Given the description of an element on the screen output the (x, y) to click on. 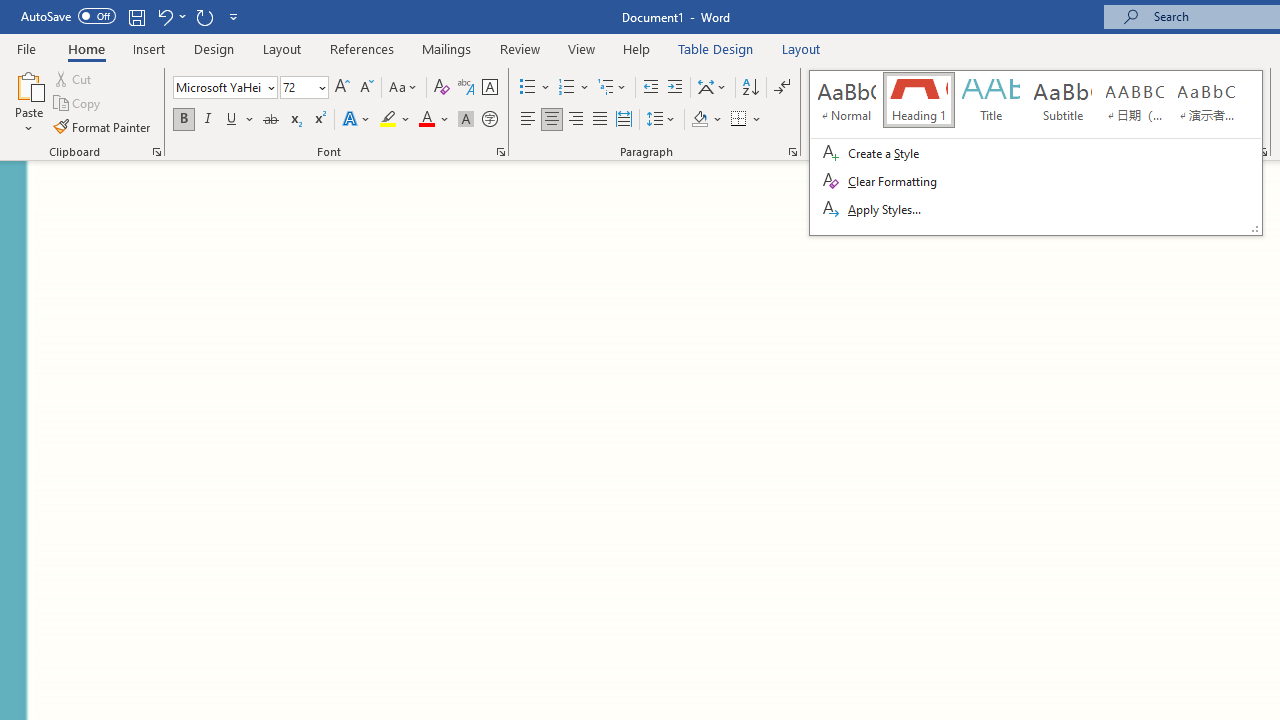
Text Highlight Color (395, 119)
Clear Formatting (442, 87)
Subscript (294, 119)
Copy (78, 103)
Undo Grow Font (170, 15)
Repeat Doc Close (204, 15)
Font Color Red (426, 119)
Phonetic Guide... (465, 87)
Center (552, 119)
